Given the description of an element on the screen output the (x, y) to click on. 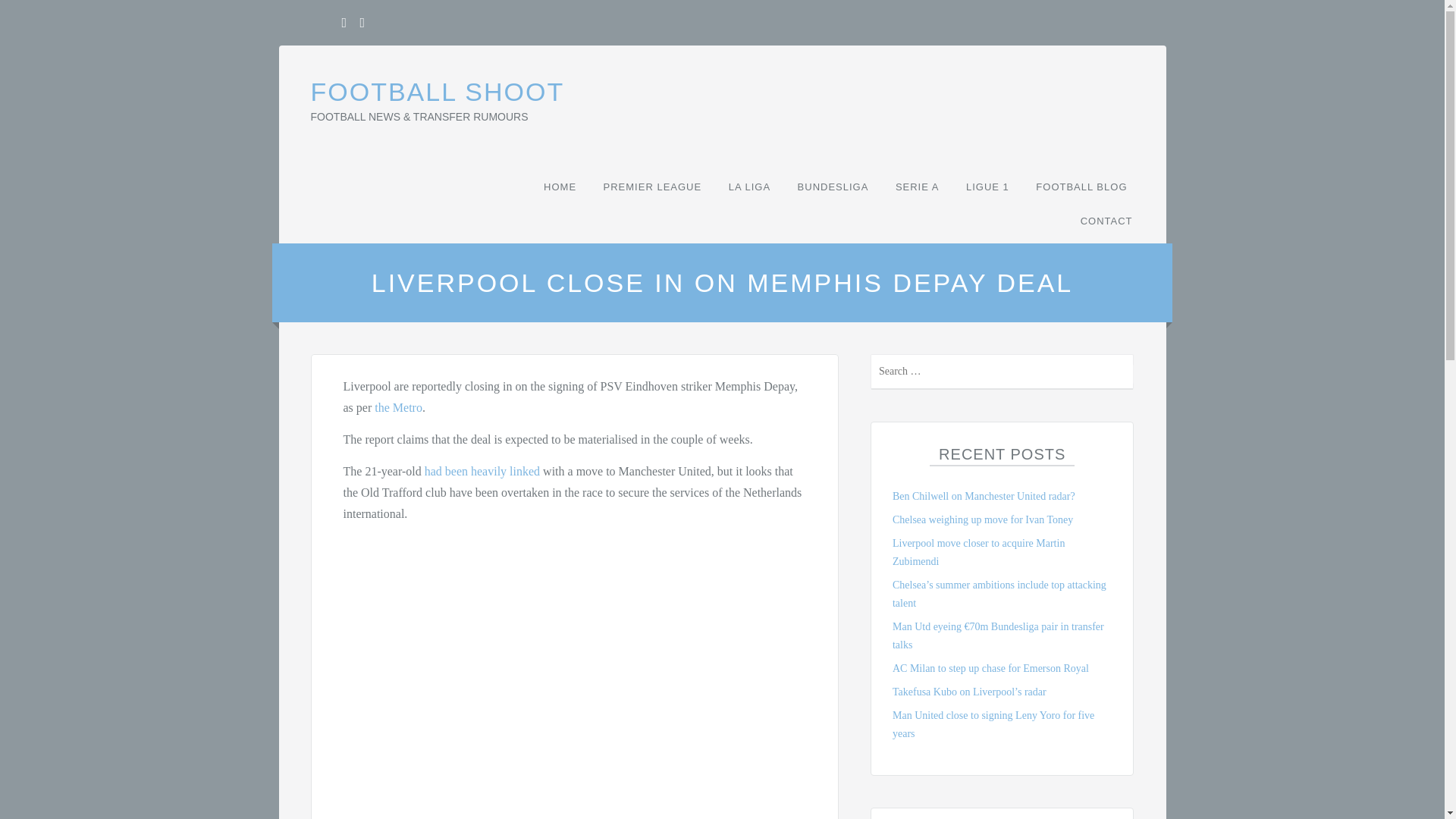
BUNDESLIGA (833, 187)
Search for: (1002, 371)
HOME (560, 187)
the Metro (398, 407)
Go to homepage (437, 91)
Chelsea weighing up move for Ivan Toney (982, 519)
Ben Chilwell on Manchester United radar? (983, 496)
CONTACT (1104, 220)
SERIE A (917, 187)
LA LIGA (749, 187)
